Given the description of an element on the screen output the (x, y) to click on. 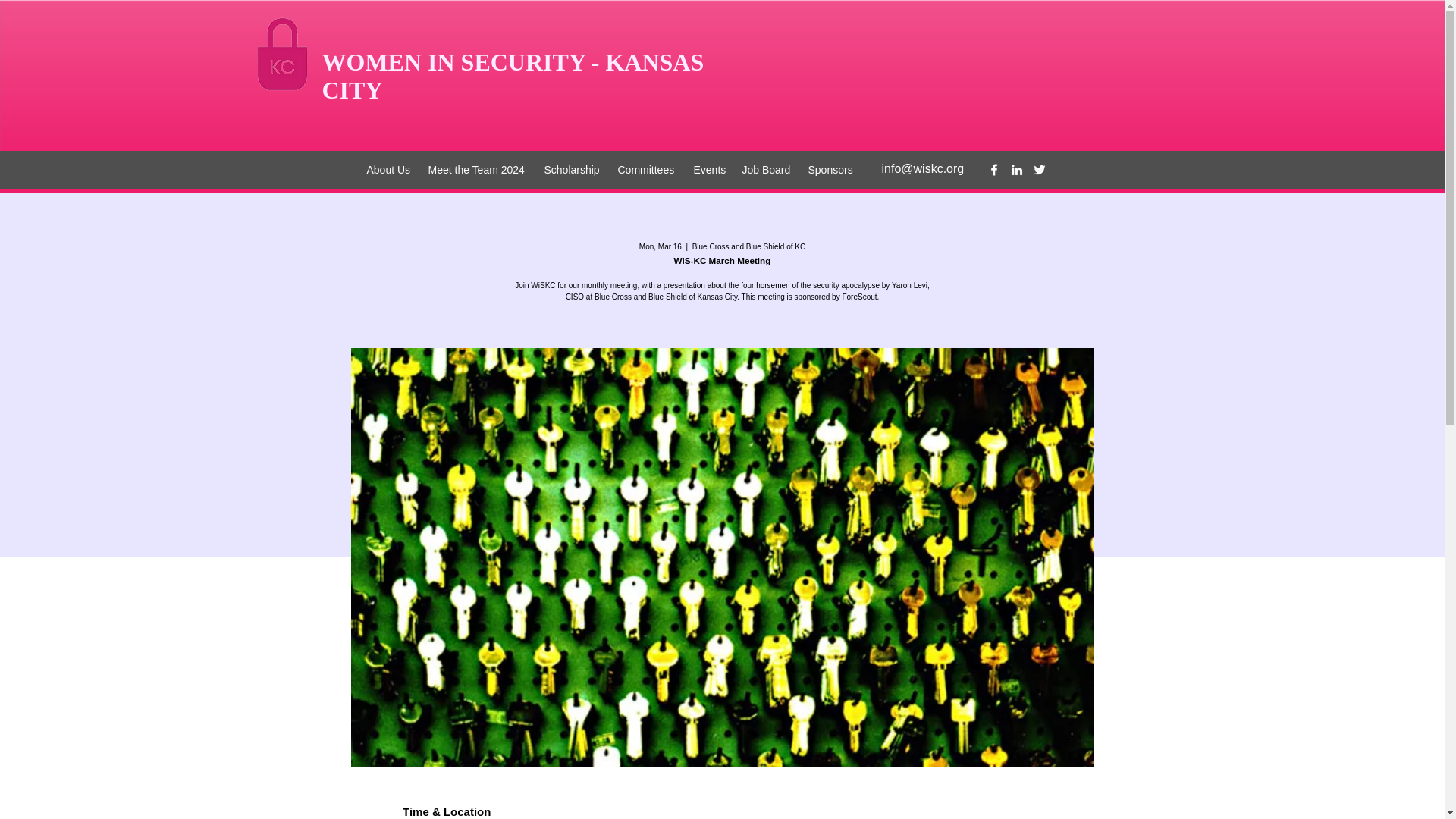
Scholarship (573, 169)
Sponsors (830, 169)
Events (709, 169)
Committees (647, 169)
Job Board (766, 169)
About Us (389, 169)
Meet the Team 2024 (477, 169)
